Given the description of an element on the screen output the (x, y) to click on. 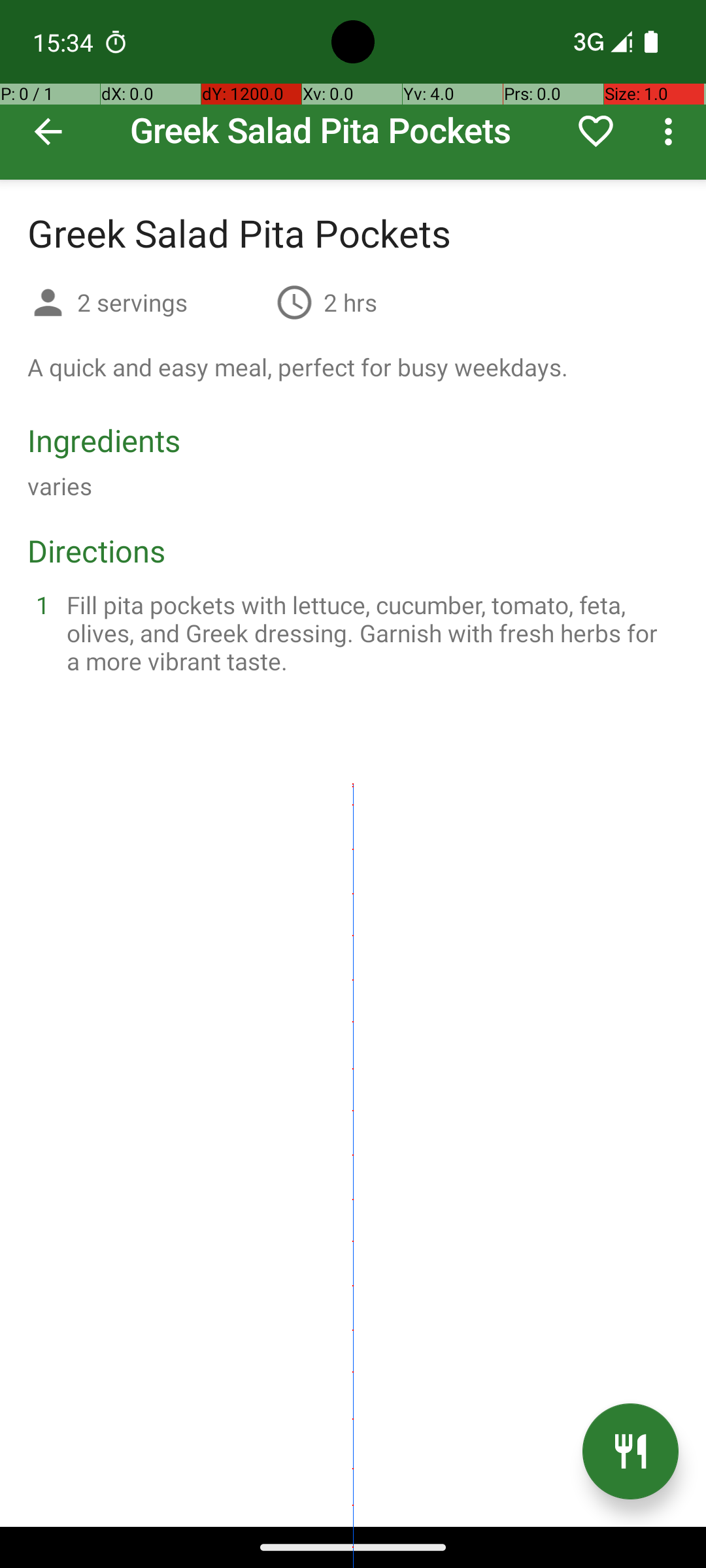
Fill pita pockets with lettuce, cucumber, tomato, feta, olives, and Greek dressing. Garnish with fresh herbs for a more vibrant taste. Element type: android.widget.TextView (368, 632)
